Given the description of an element on the screen output the (x, y) to click on. 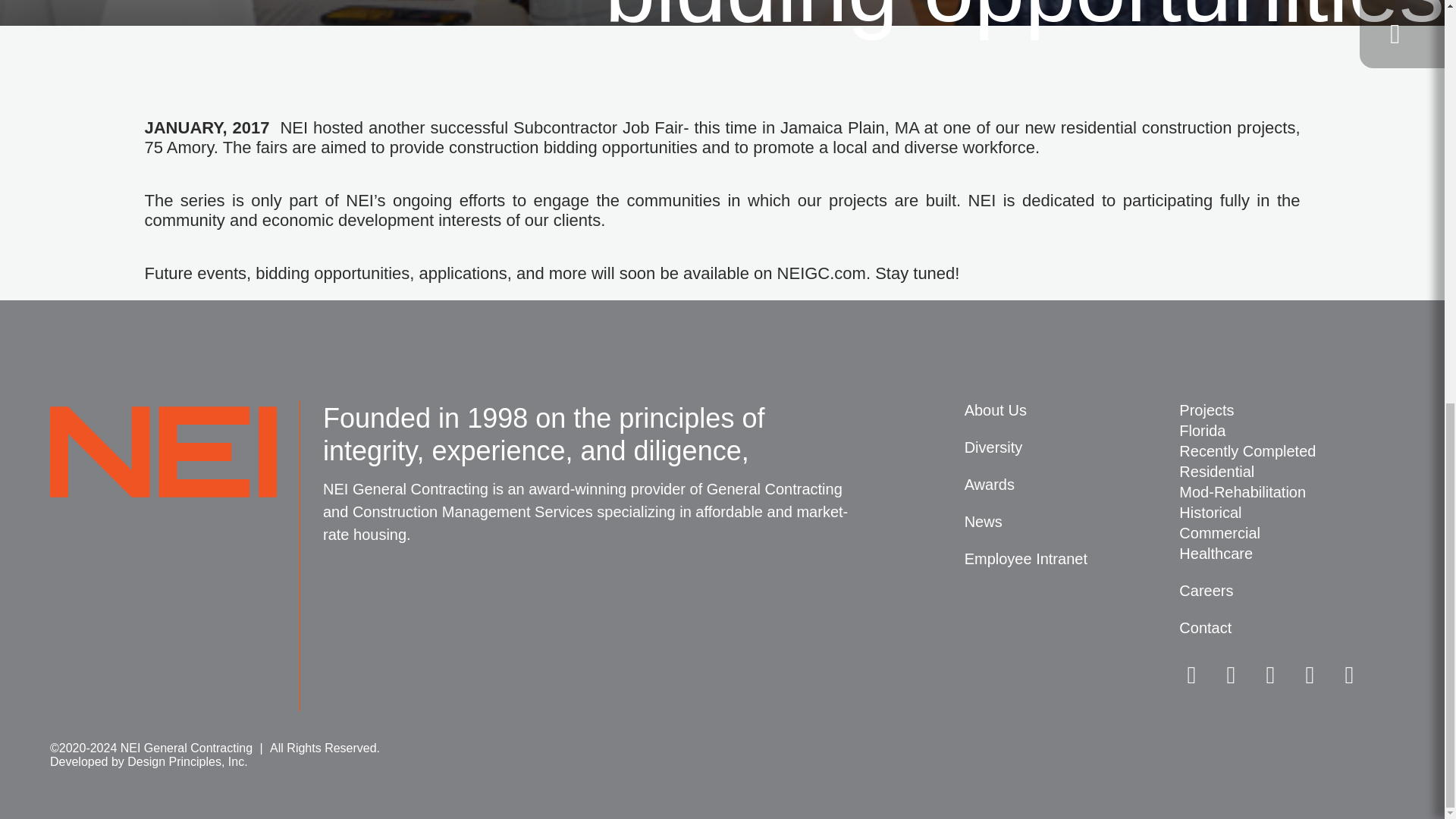
Recently Completed (1286, 451)
Twitter (1191, 674)
Careers (1286, 590)
About Us (1071, 410)
LinkedIn (1230, 674)
NEI General Contracting (162, 461)
Facebook (1309, 674)
Awards (1071, 485)
Florida (1286, 430)
News (1071, 521)
Commercial (1286, 533)
Projects (1286, 410)
Facebook (1309, 674)
Contact (1286, 628)
Historical (1286, 512)
